Given the description of an element on the screen output the (x, y) to click on. 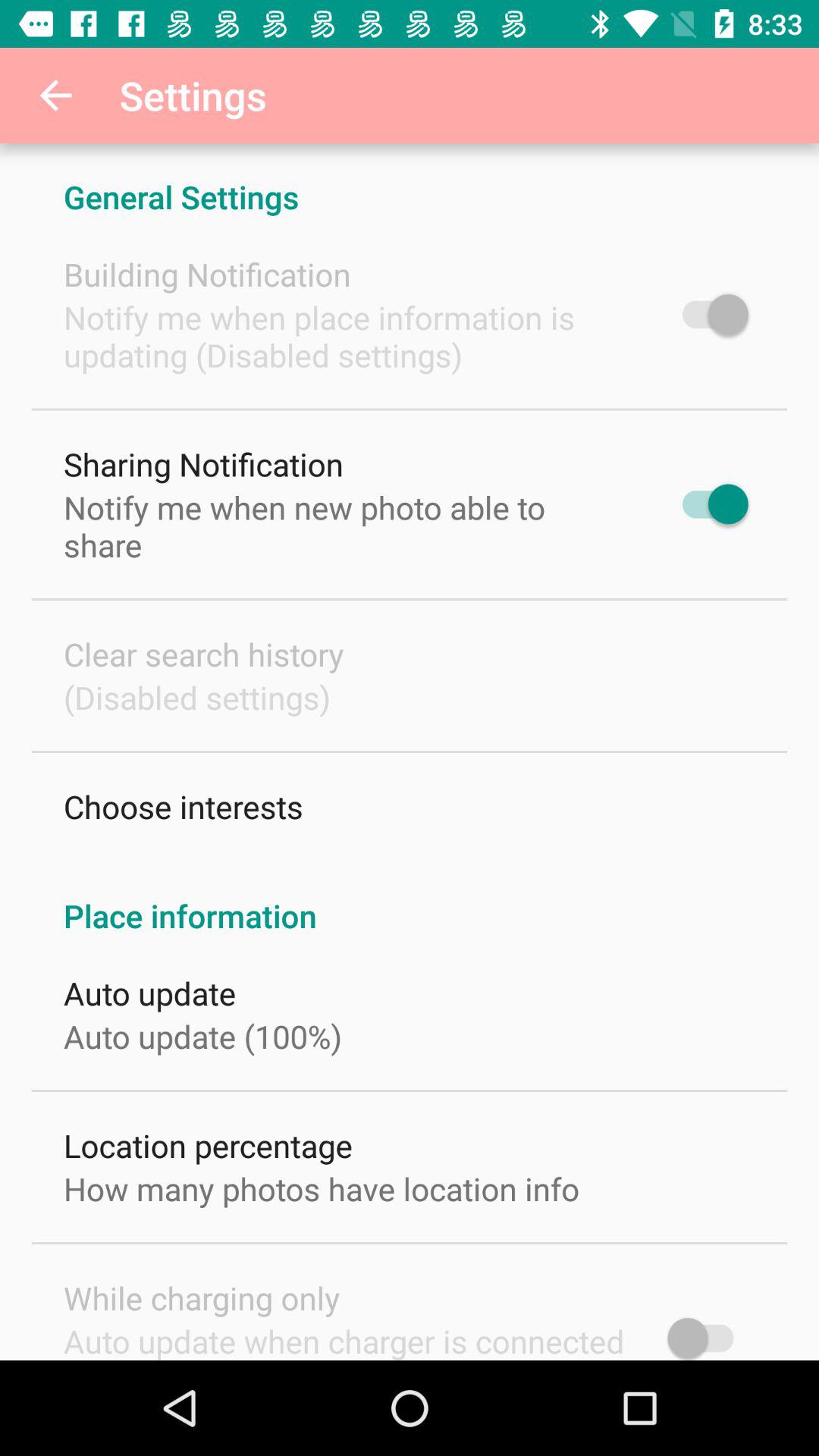
jump to general settings item (409, 180)
